Given the description of an element on the screen output the (x, y) to click on. 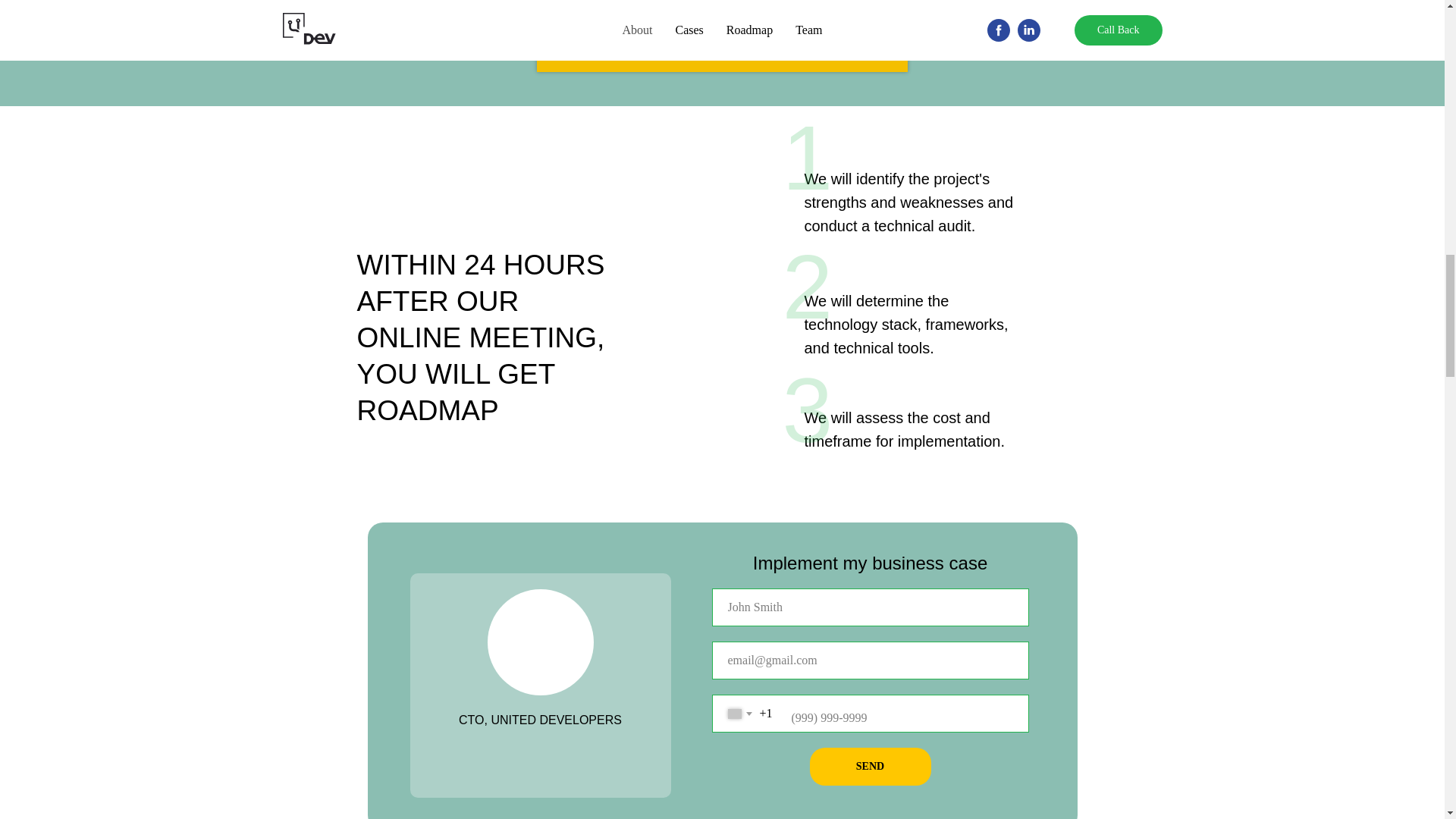
Book a 30-minute session for examination and estimation (722, 49)
SEND (870, 766)
